Given the description of an element on the screen output the (x, y) to click on. 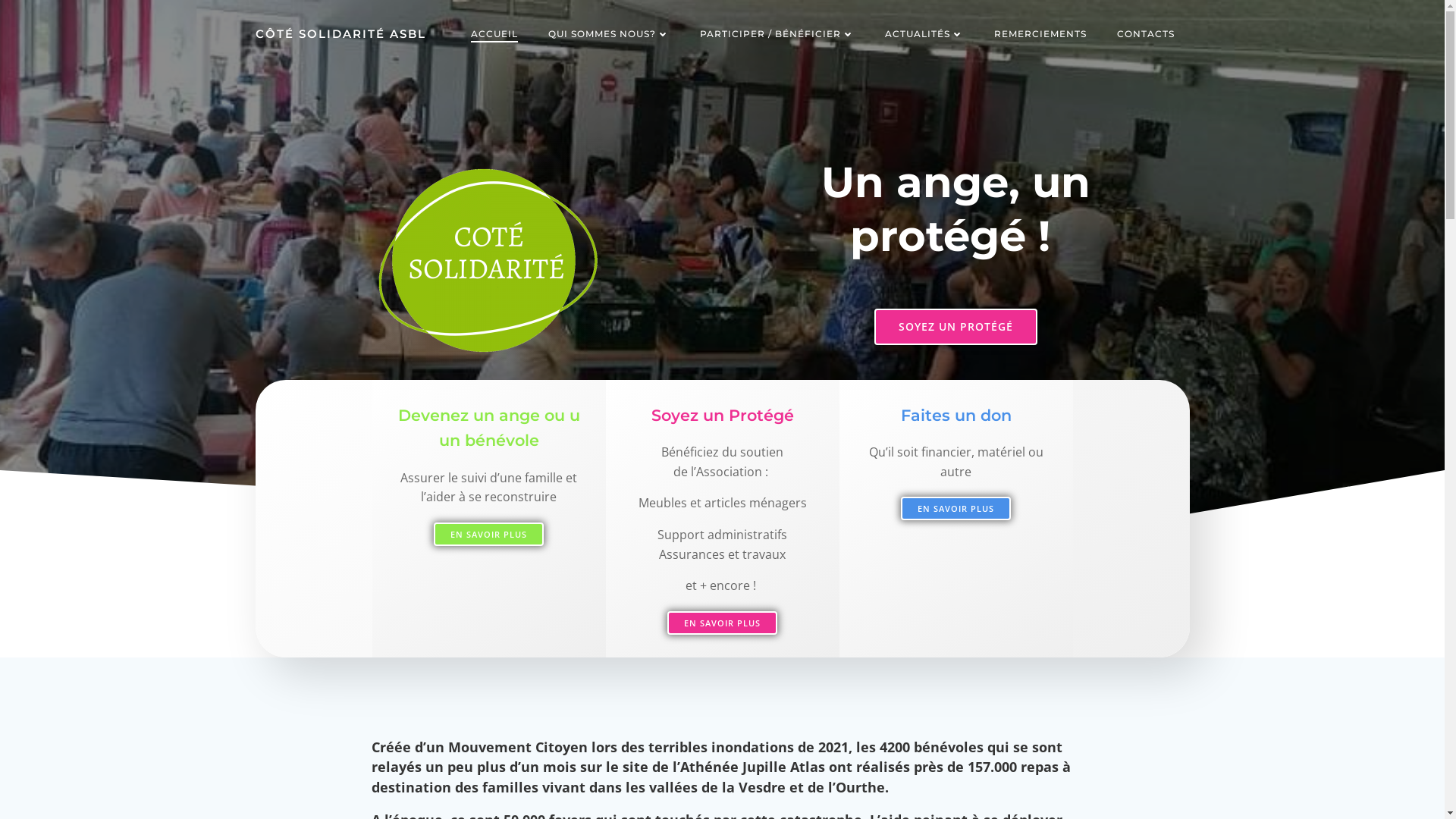
REMERCIEMENTS Element type: text (1039, 33)
CONTACTS Element type: text (1144, 33)
EN SAVOIR PLUS Element type: text (488, 534)
QUI SOMMES NOUS? Element type: text (607, 33)
EN SAVOIR PLUS Element type: text (722, 622)
ACCUEIL Element type: text (493, 33)
EN SAVOIR PLUS Element type: text (955, 508)
